Given the description of an element on the screen output the (x, y) to click on. 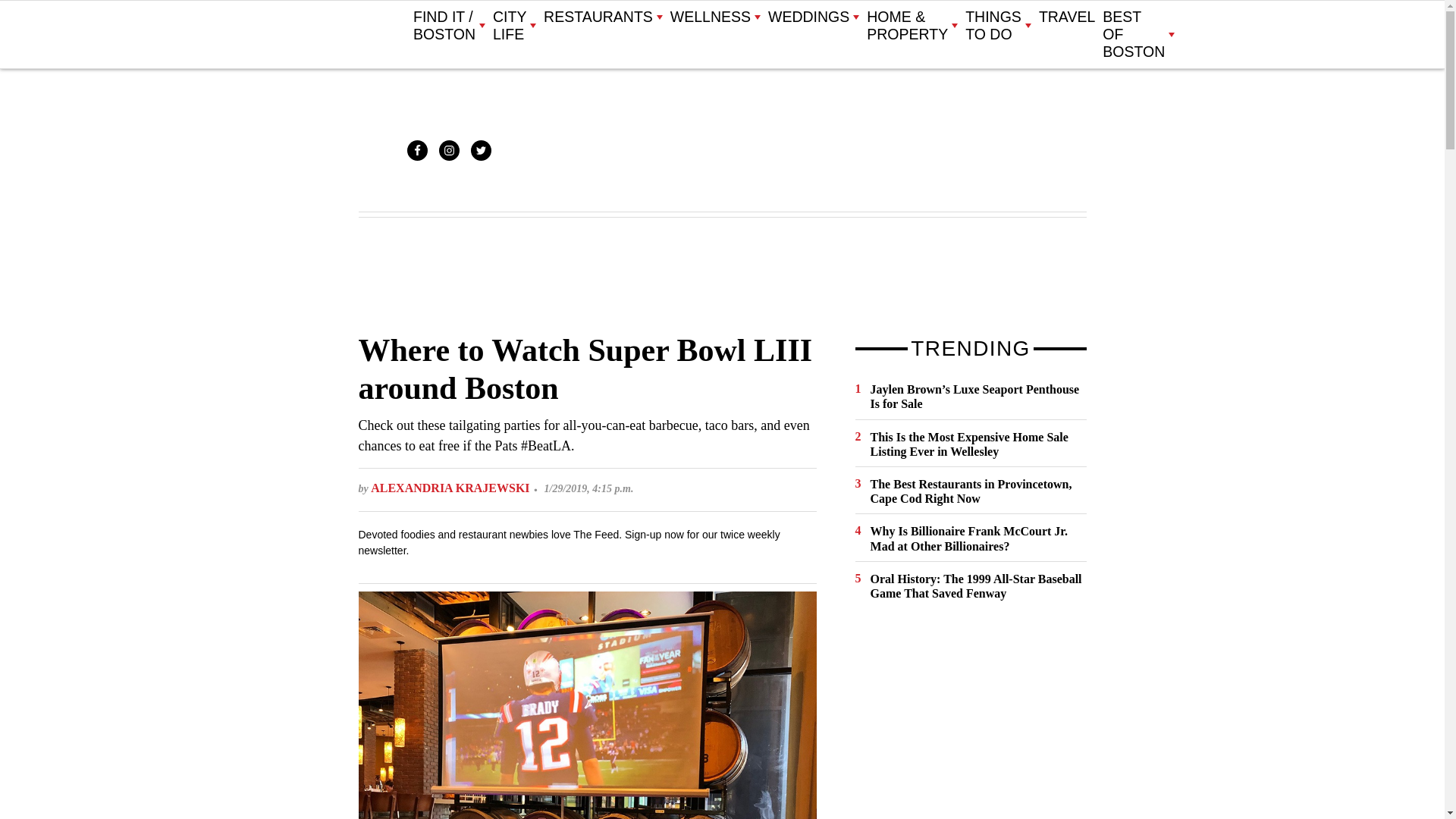
RESTAURANTS (602, 16)
THINGS TO DO (997, 25)
WEDDINGS (813, 16)
WELLNESS (714, 16)
